Given the description of an element on the screen output the (x, y) to click on. 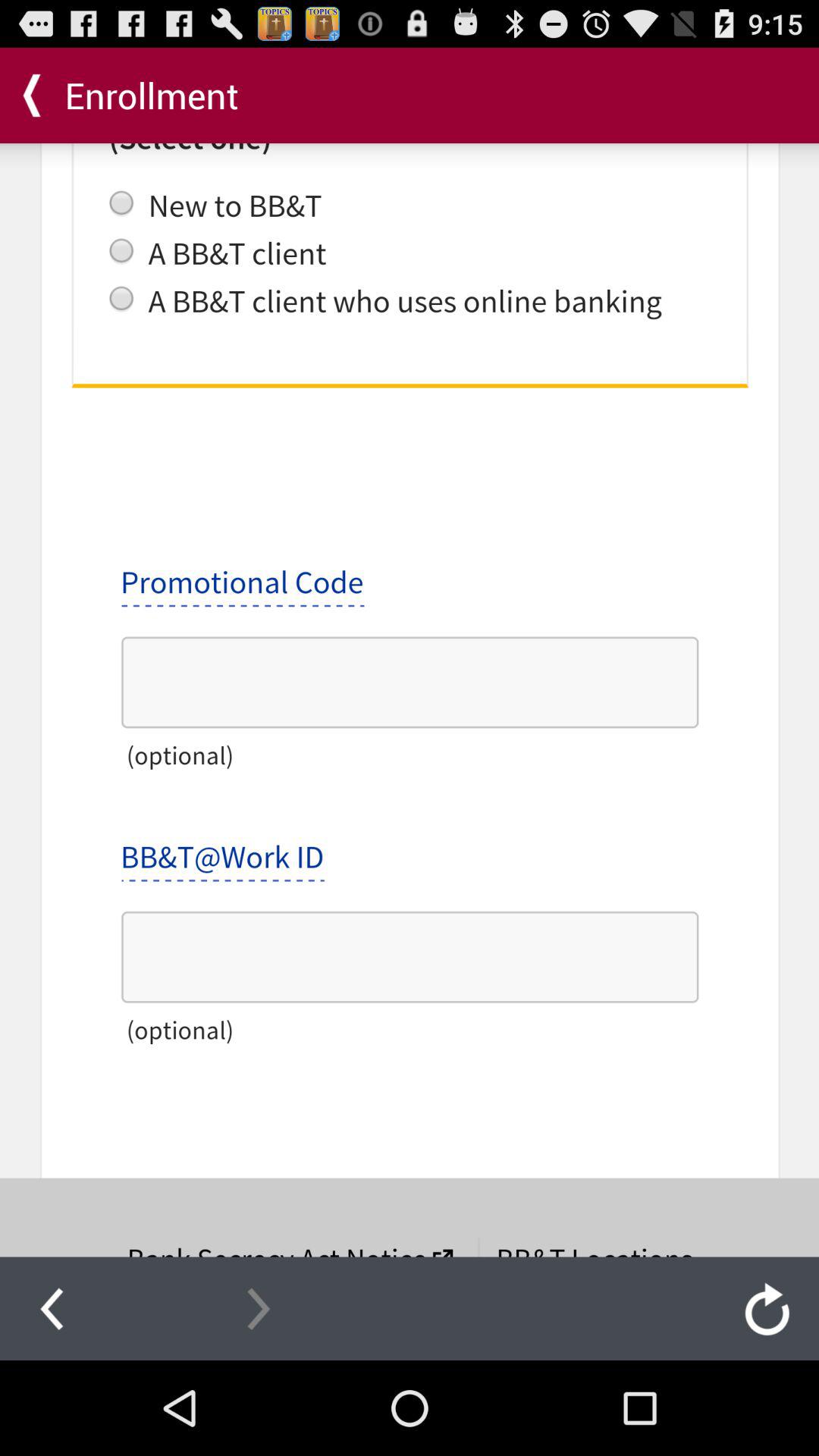
select your options and enter code (409, 699)
